Given the description of an element on the screen output the (x, y) to click on. 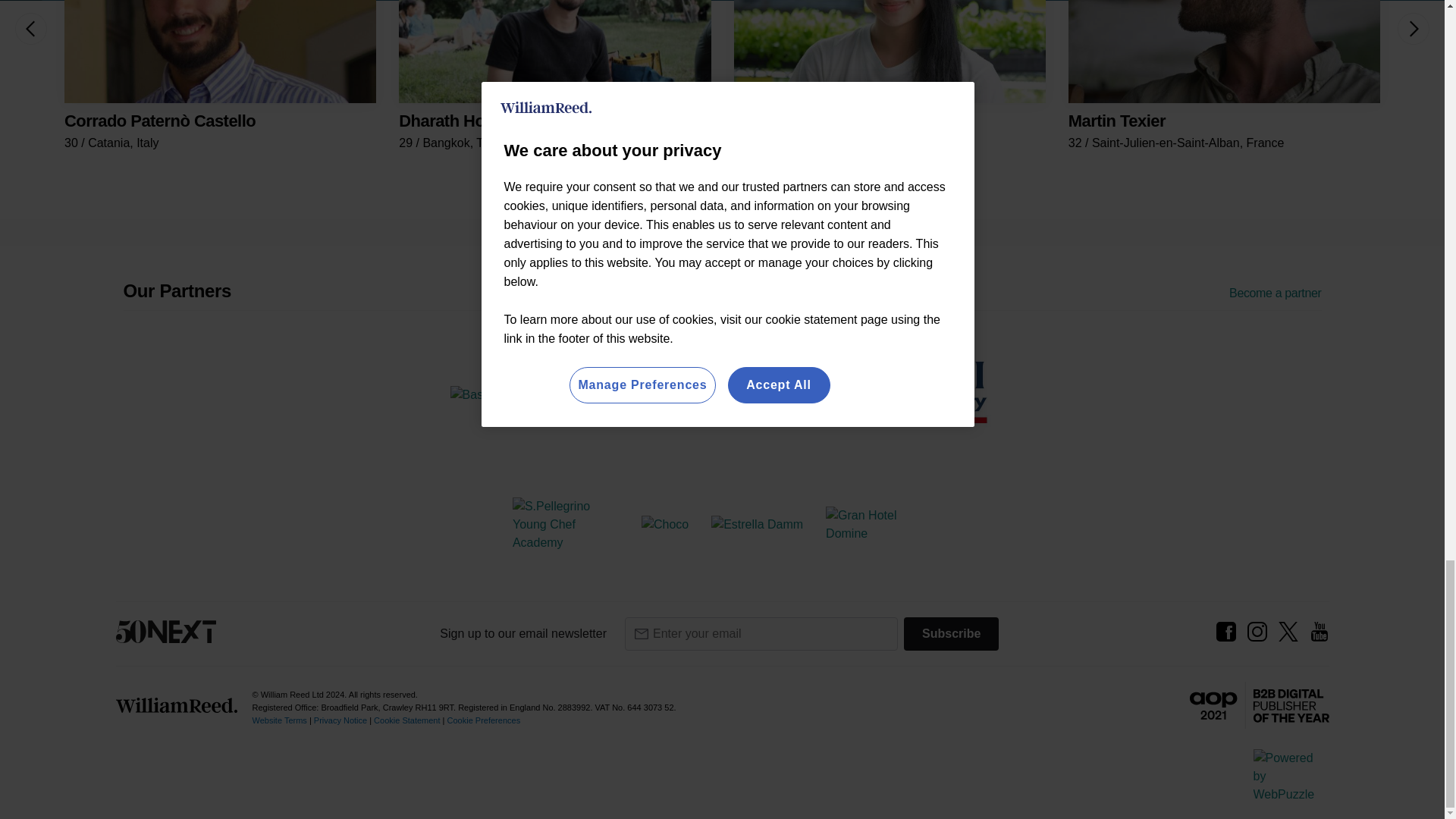
Estrella Damm  Official Partner of 50 Next (757, 524)
Euskadi Basque Country  50 Next Destination Partner (904, 392)
Partners block (721, 289)
Biscay  50 Next Destination Partner (702, 392)
Basque Culinary Center  50 Next Academic Partner (520, 394)
S.Pellegrino Young Chef Academy  Official Partner of 50 Next (565, 524)
Choco  Official Partner of 50 Next (665, 524)
